Given the description of an element on the screen output the (x, y) to click on. 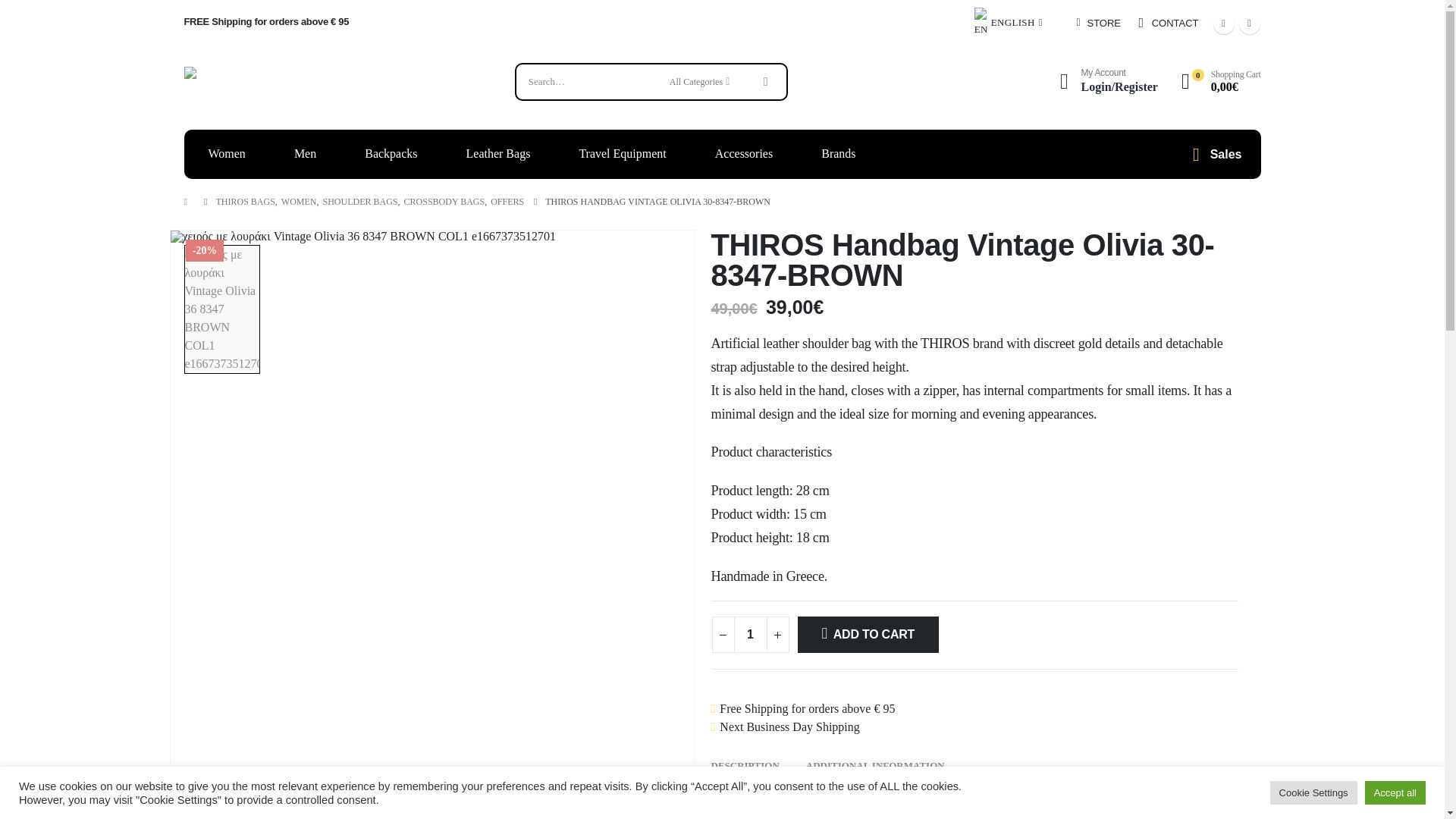
Leather Bags (498, 154)
Facebook (1223, 23)
STORE (1103, 23)
Login (1106, 81)
Backpacks (390, 154)
CONTACT (1174, 23)
Accessories (743, 154)
Search (765, 81)
Instagram (1249, 23)
1 (750, 634)
